Given the description of an element on the screen output the (x, y) to click on. 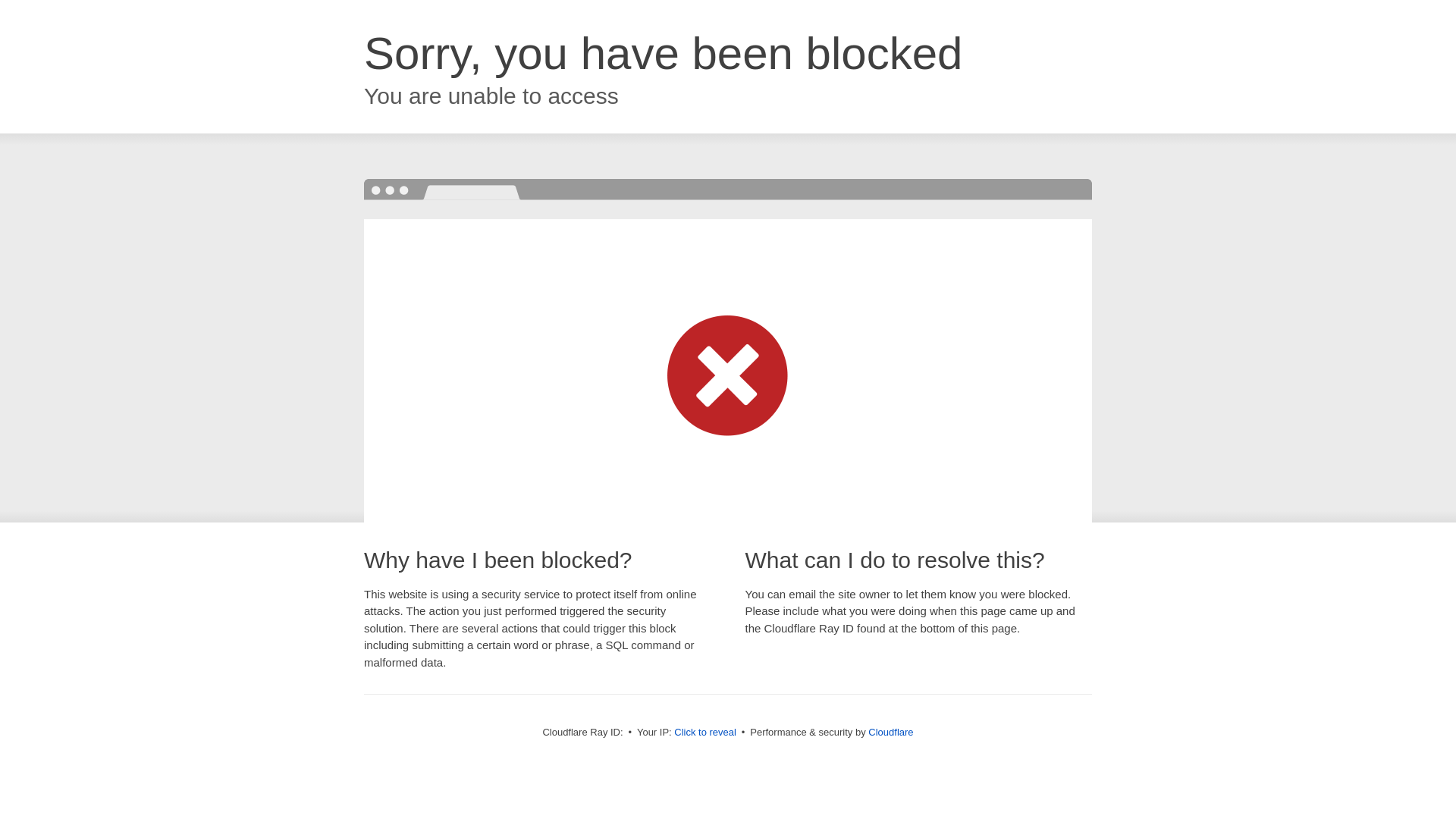
Cloudflare Element type: text (890, 731)
Click to reveal Element type: text (705, 732)
